Given the description of an element on the screen output the (x, y) to click on. 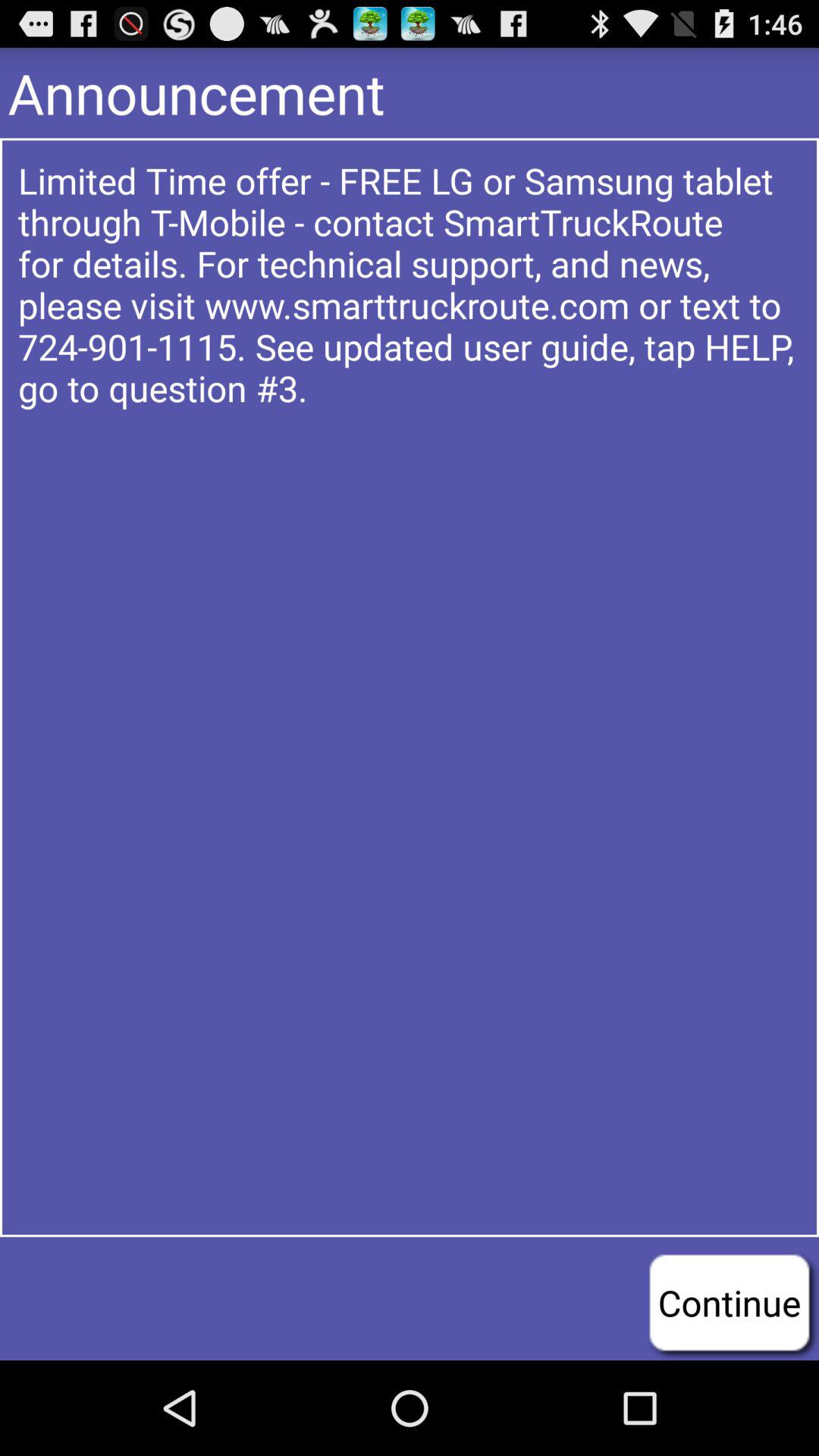
select the item at the bottom right corner (729, 1302)
